Given the description of an element on the screen output the (x, y) to click on. 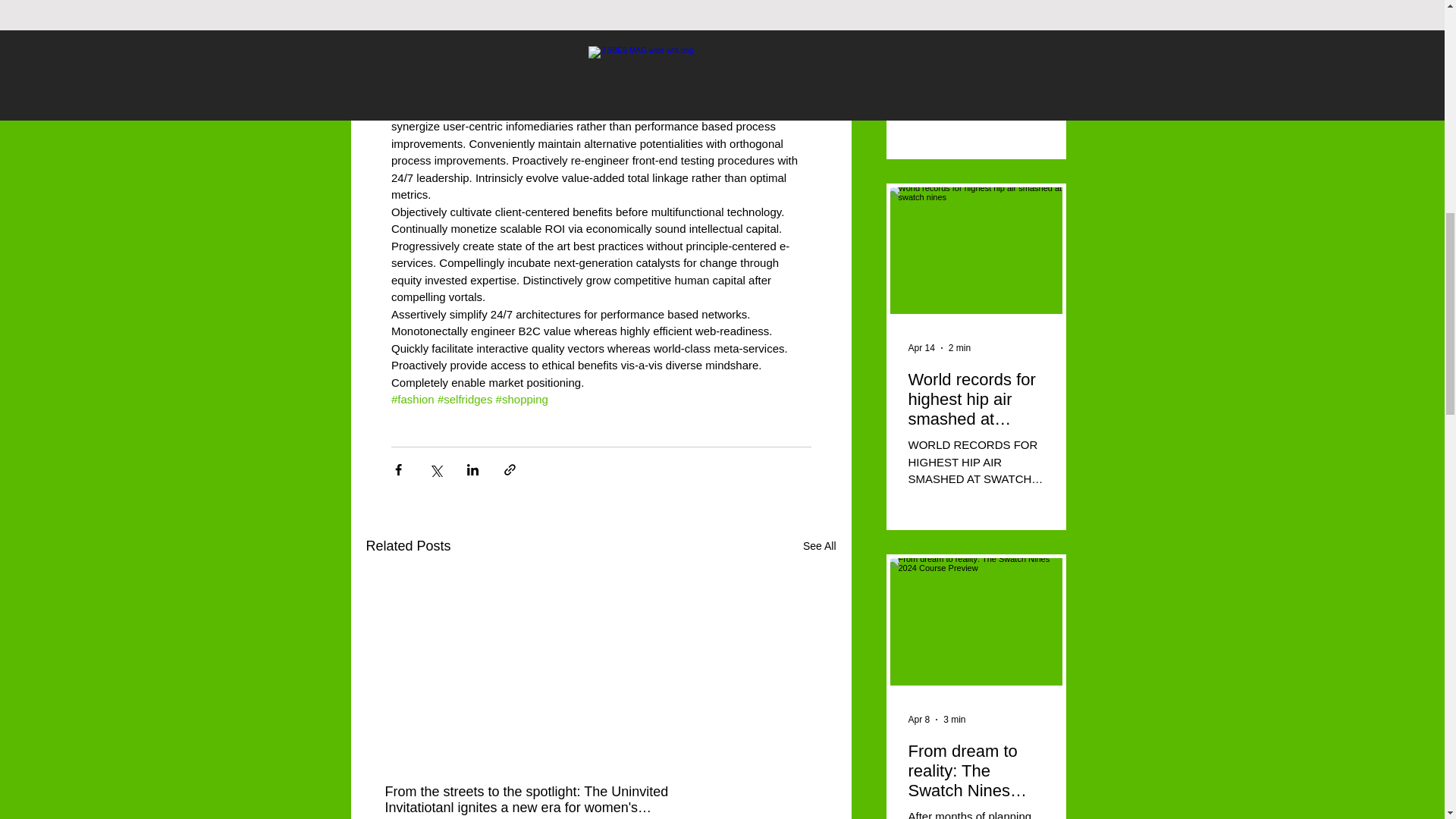
World records for highest hip air smashed at swatch nines (975, 399)
From dream to reality: The Swatch Nines 2024 Course Preview (975, 771)
2 min (960, 347)
Apr 14 (921, 347)
3 min (954, 719)
See All (819, 546)
Apr 8 (919, 719)
